Given the description of an element on the screen output the (x, y) to click on. 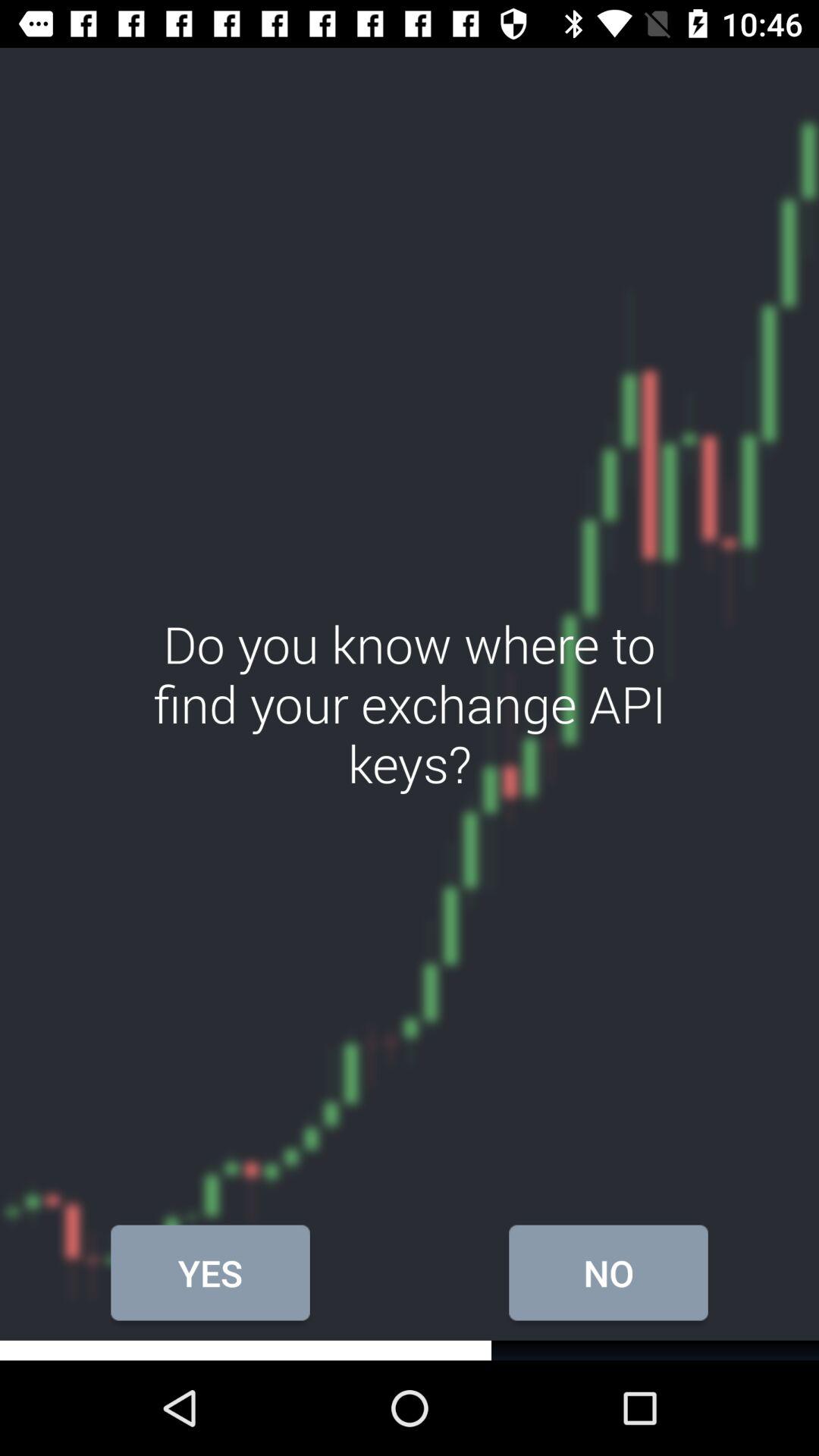
jump until yes icon (209, 1272)
